Given the description of an element on the screen output the (x, y) to click on. 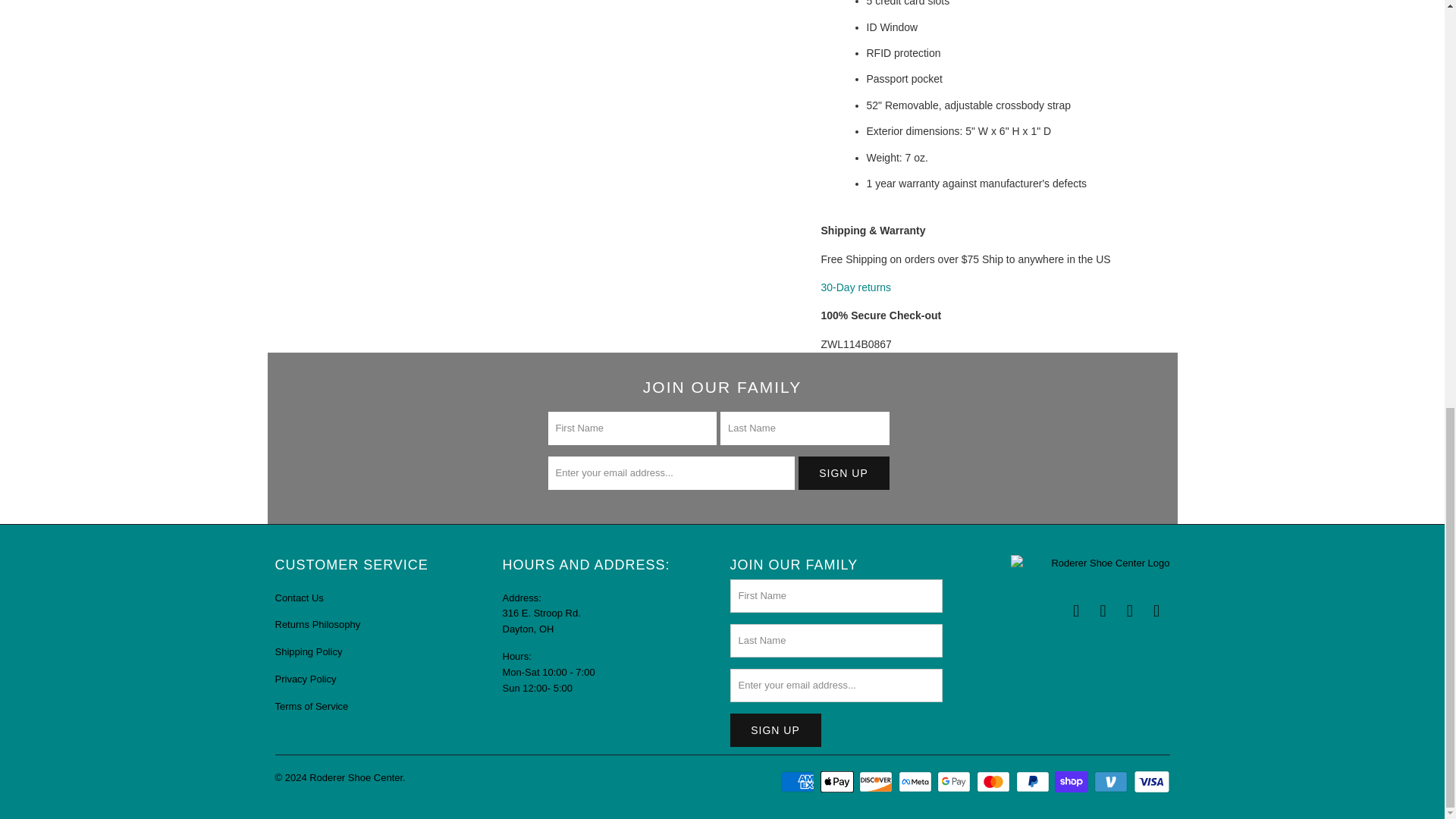
American Express (798, 781)
Google Pay (955, 781)
Venmo (1112, 781)
Mastercard (994, 781)
Discover (877, 781)
Meta Pay (916, 781)
PayPal (1034, 781)
Roderer Shoe Center on Facebook (1076, 610)
Visa (1150, 781)
Sign Up (775, 730)
